Given the description of an element on the screen output the (x, y) to click on. 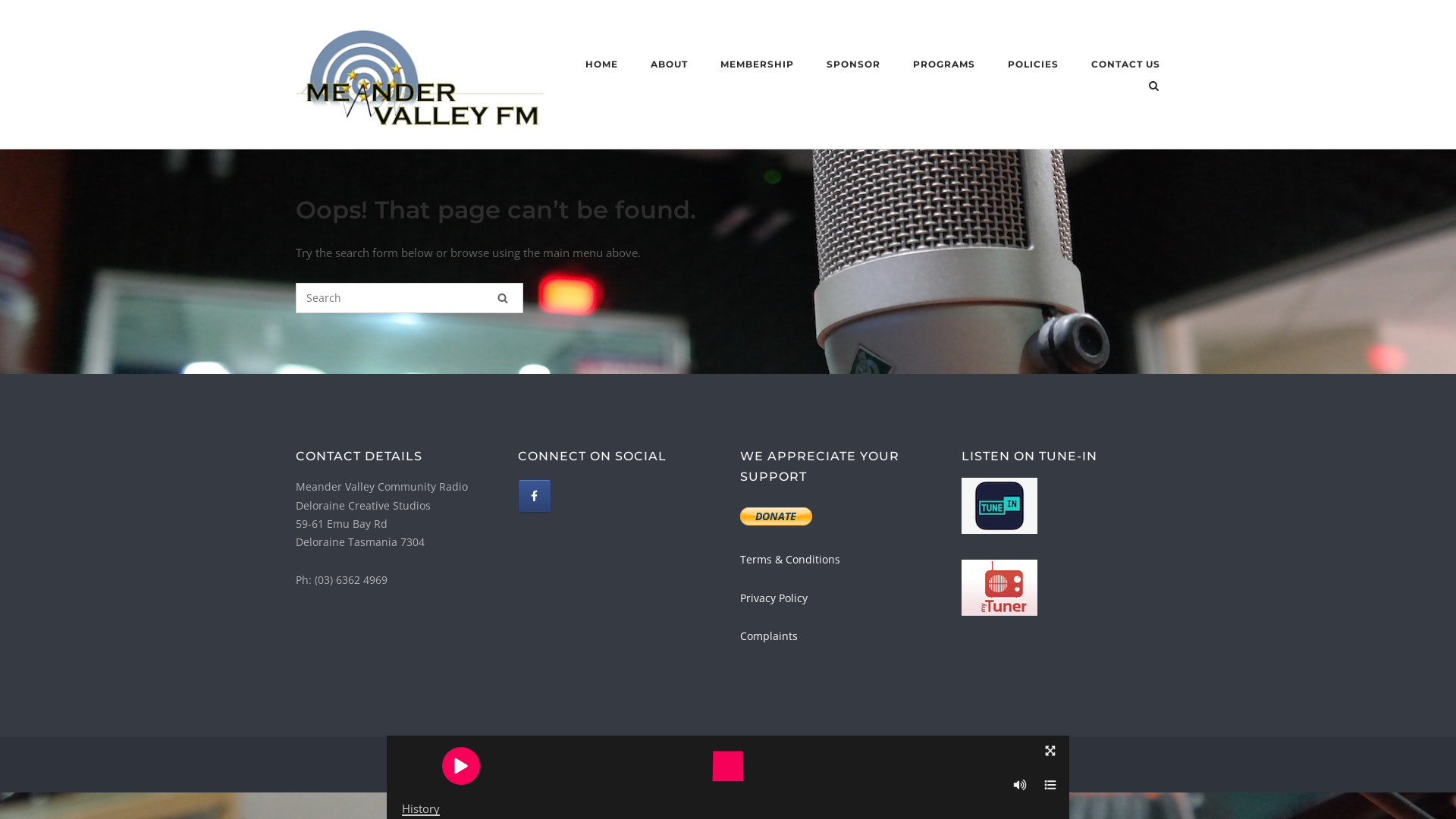
PROGRAMS Element type: text (944, 66)
HOME Element type: text (601, 66)
Complaints Element type: text (768, 635)
Privacy Policy Element type: text (773, 597)
SiteOrigin Element type: text (886, 764)
Terms & Conditions Element type: text (790, 559)
MEMBERSHIP Element type: text (756, 66)
CONTACT US Element type: text (1125, 66)
Meander Valley Community Radio on Facebook Element type: hover (534, 495)
POLICIES Element type: text (1032, 65)
SPONSOR Element type: text (853, 66)
ABOUT Element type: text (668, 66)
Privacy Policy Element type: text (776, 764)
